Given the description of an element on the screen output the (x, y) to click on. 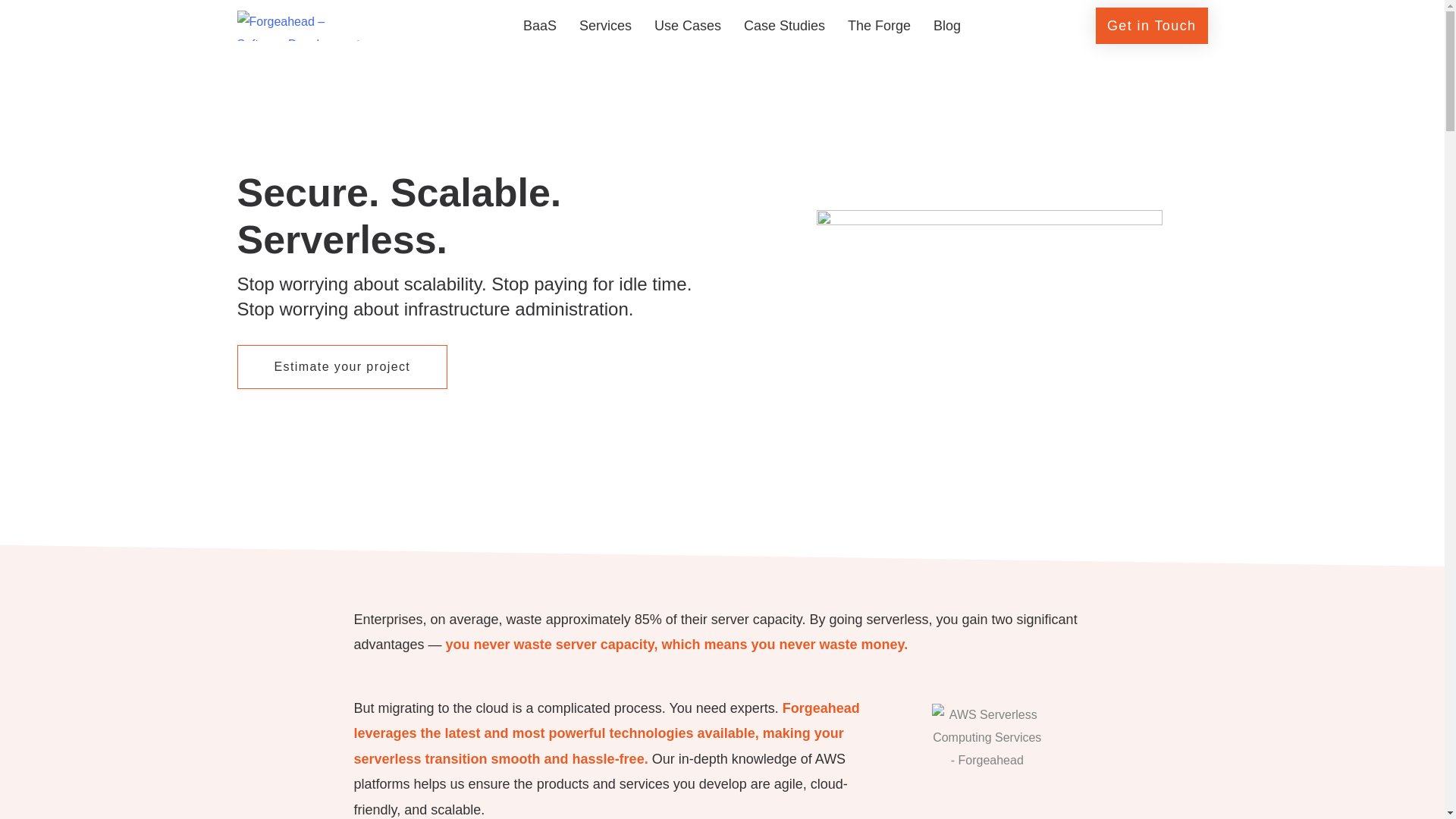
BaaS (539, 25)
The Forge (878, 25)
Blog (946, 25)
Use Cases (687, 25)
Case Studies (783, 25)
Services (605, 25)
